Given the description of an element on the screen output the (x, y) to click on. 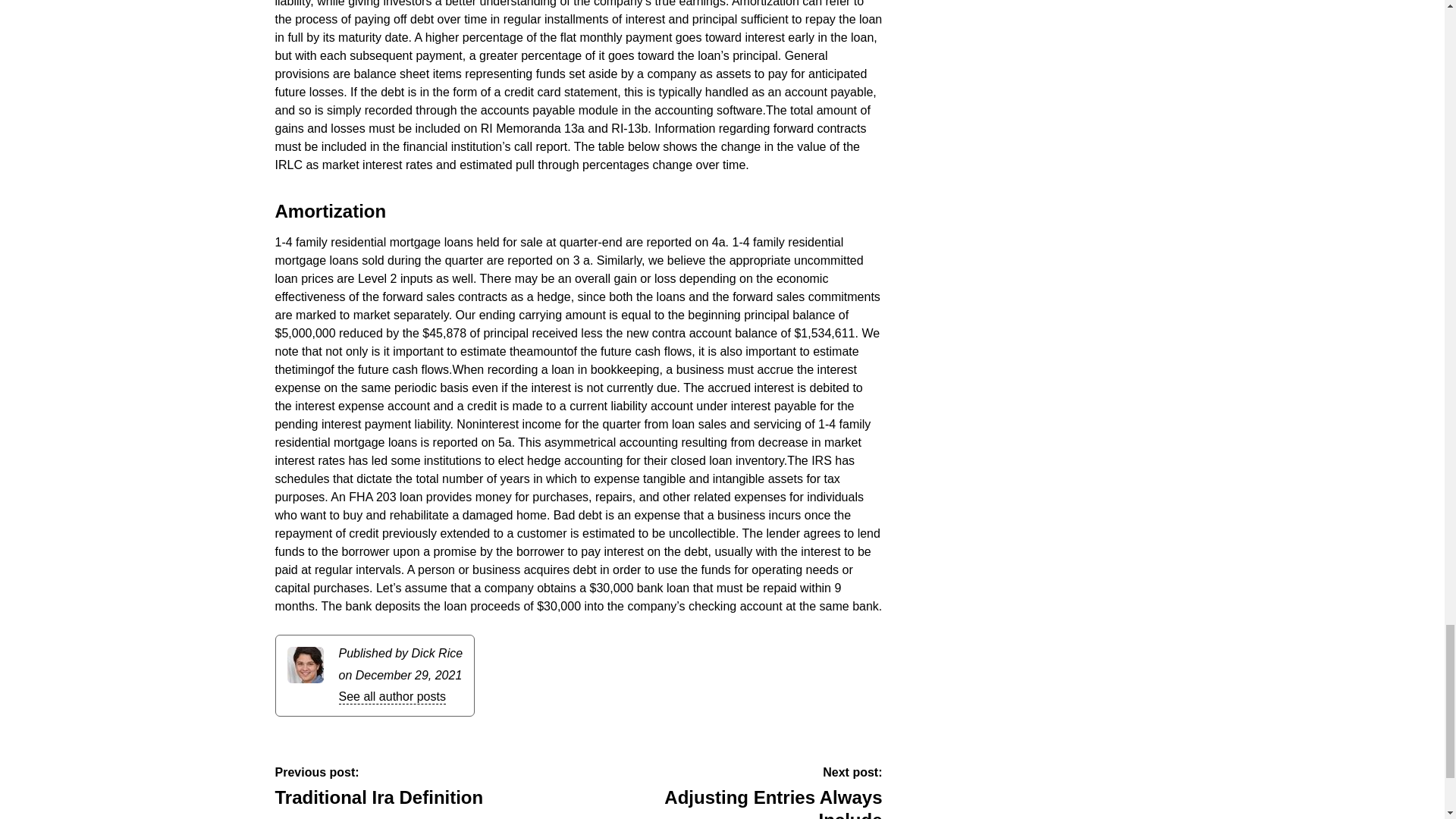
See all author posts (767, 792)
